Given the description of an element on the screen output the (x, y) to click on. 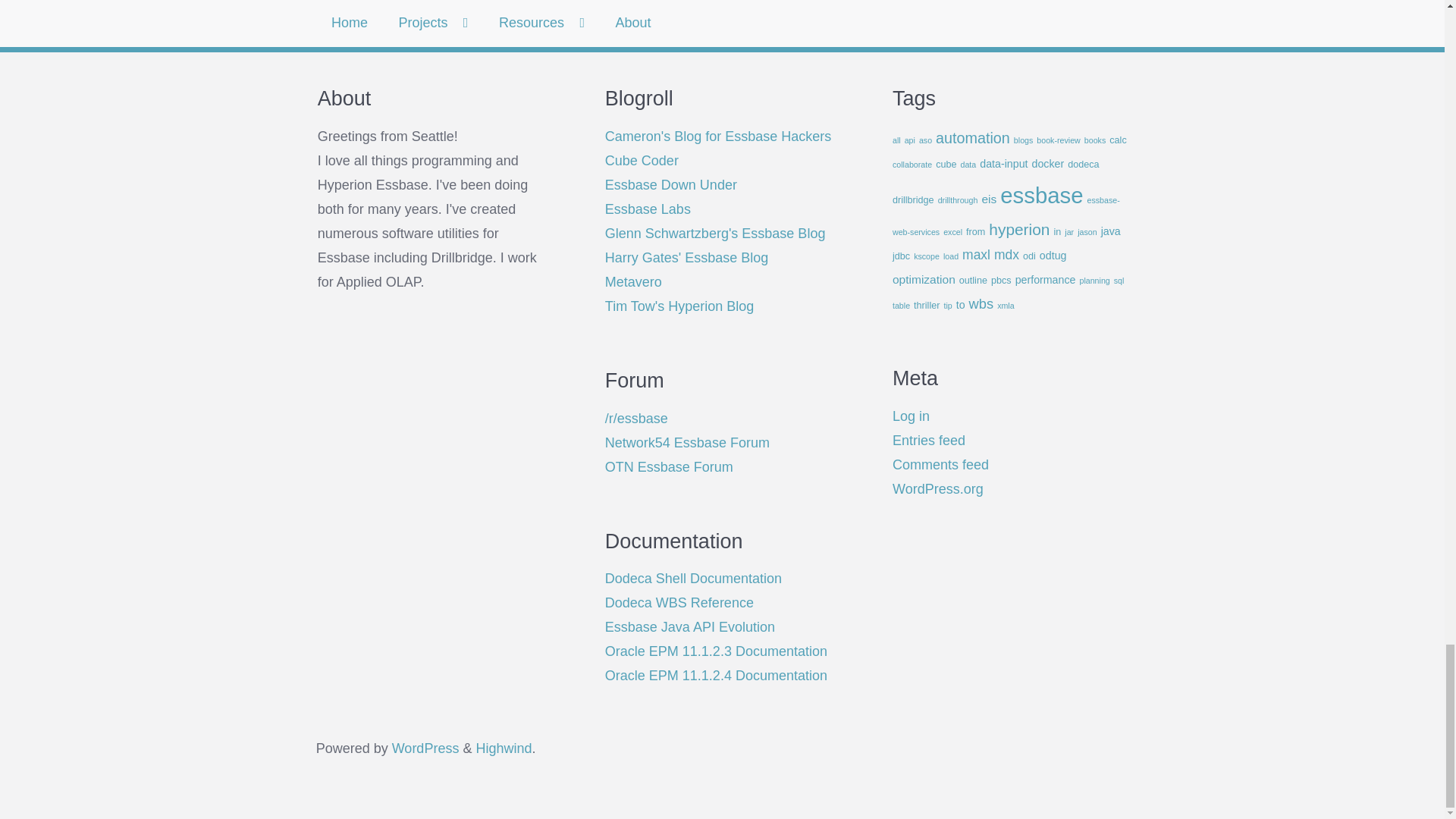
Dodeca Workbook Script Reference (679, 602)
Documentation for Oracle EPM version 11.1.2.4 (716, 675)
The Essbase Subreddit! (636, 418)
Dodeca Shell Getting Started Guide (693, 578)
Oracle Essbase Forum (669, 467)
Cameron Lackpour (718, 136)
WordPress.org (425, 748)
Highwind - Customisable and extendable WordPress theme (503, 748)
